Given the description of an element on the screen output the (x, y) to click on. 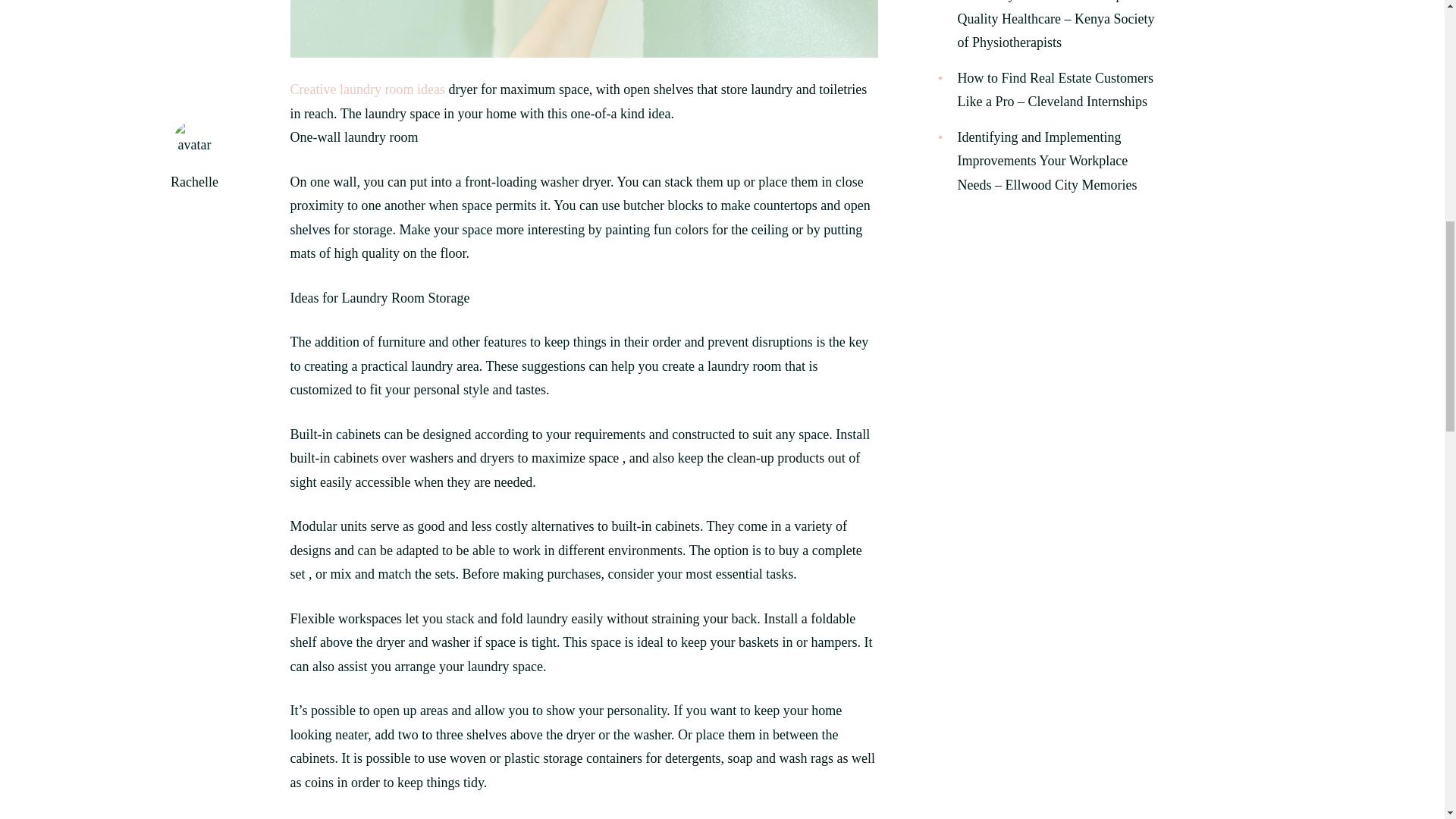
Creative laundry room ideas (366, 89)
